Given the description of an element on the screen output the (x, y) to click on. 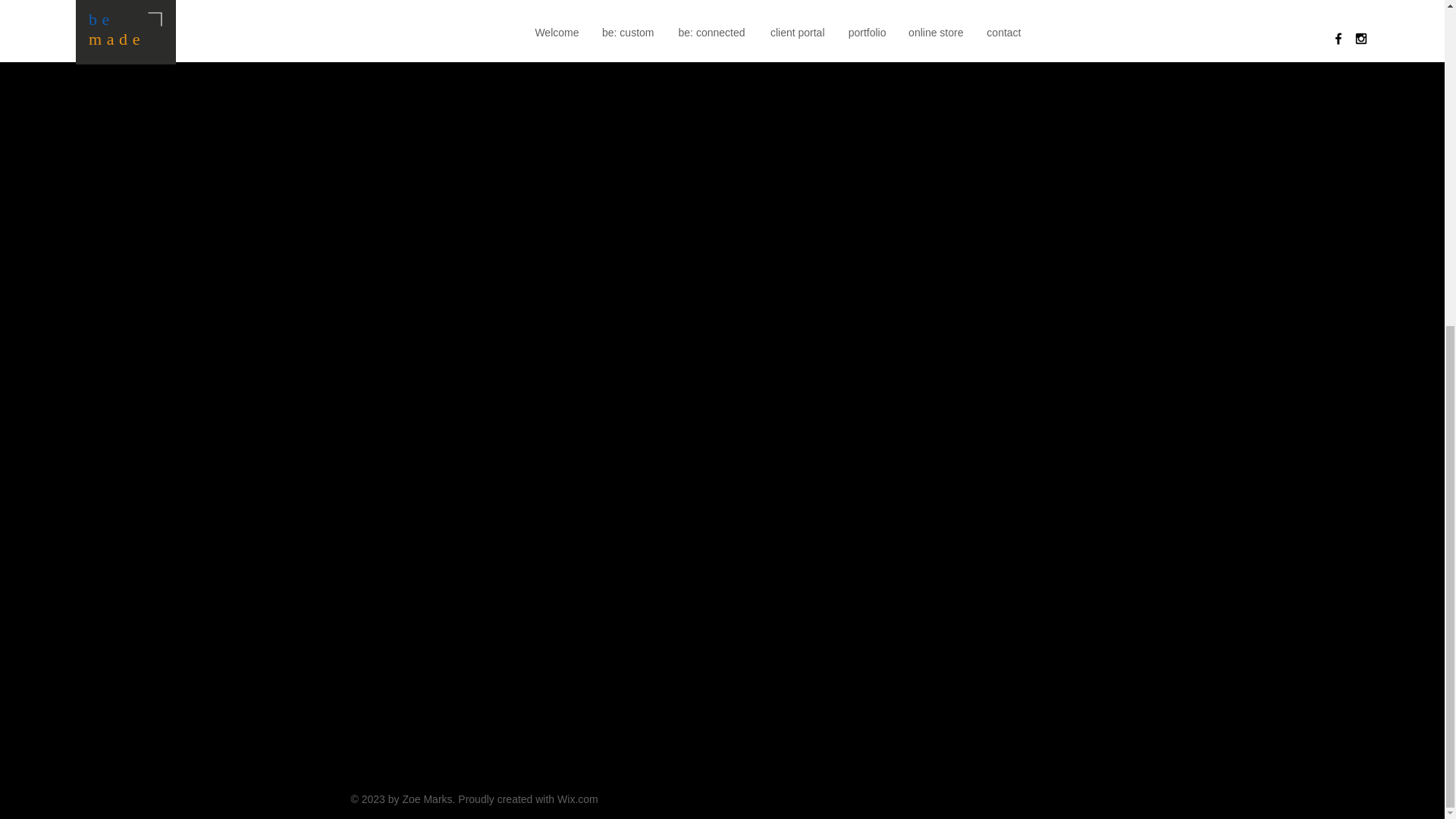
Wix.com (577, 799)
